Given the description of an element on the screen output the (x, y) to click on. 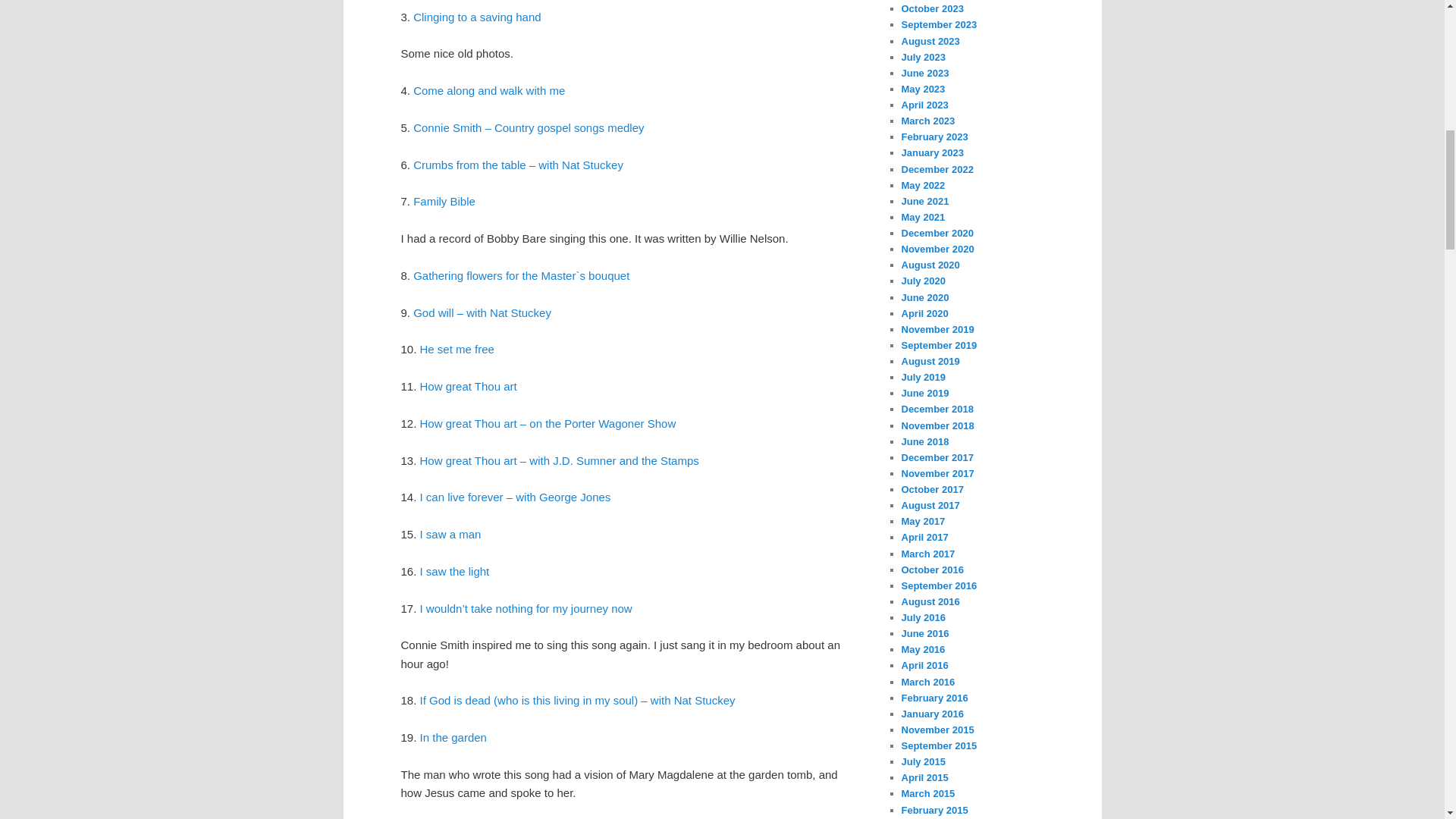
How great Thou art (468, 386)
Come along and walk with me (488, 90)
I saw the light (454, 571)
Family Bible (444, 201)
Clinging to a saving hand (476, 16)
In the garden (453, 737)
He set me free (457, 349)
I saw a man (450, 533)
